Given the description of an element on the screen output the (x, y) to click on. 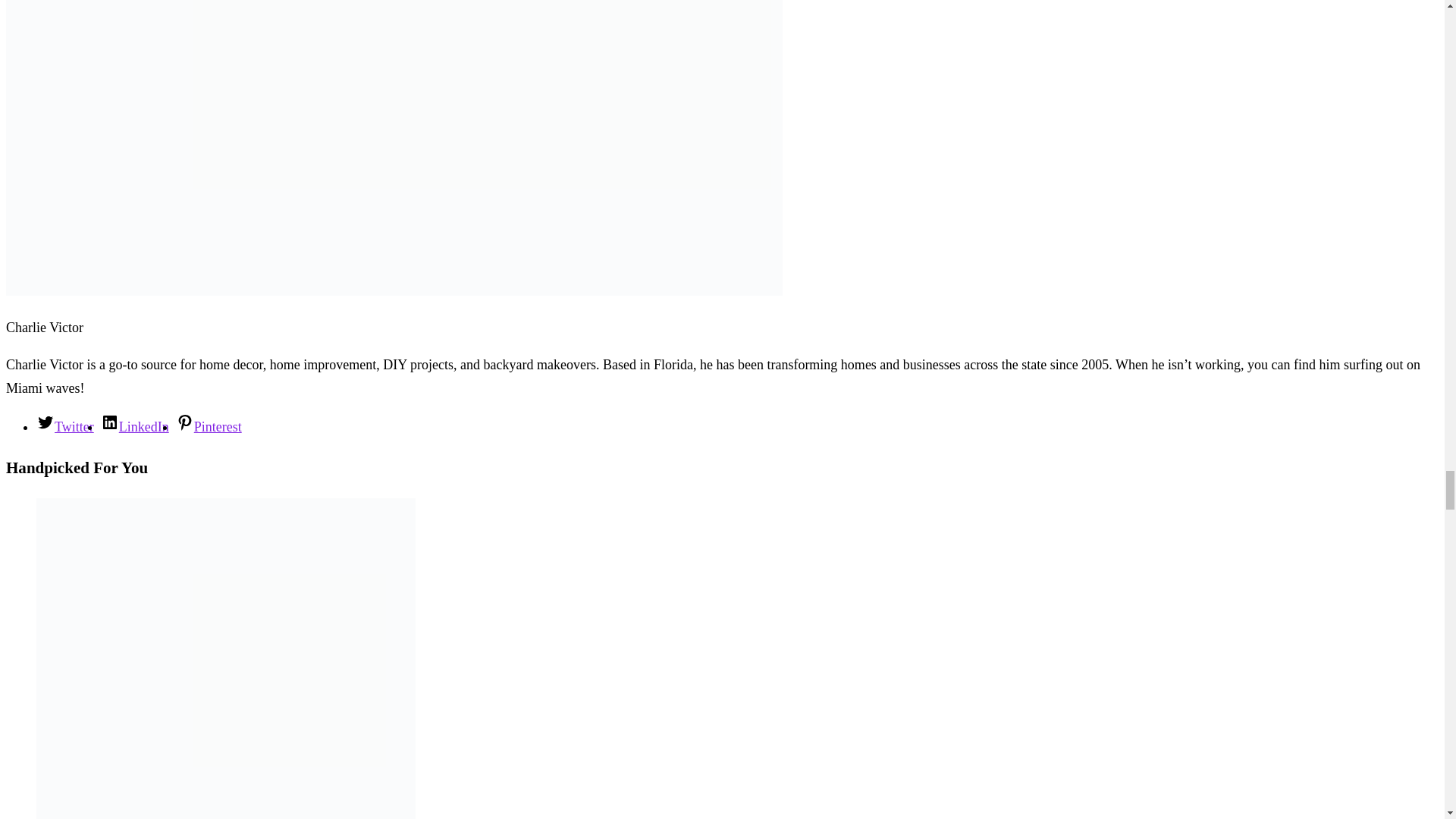
Pinterest (208, 426)
Twitter (65, 426)
LinkedIn (134, 426)
